Given the description of an element on the screen output the (x, y) to click on. 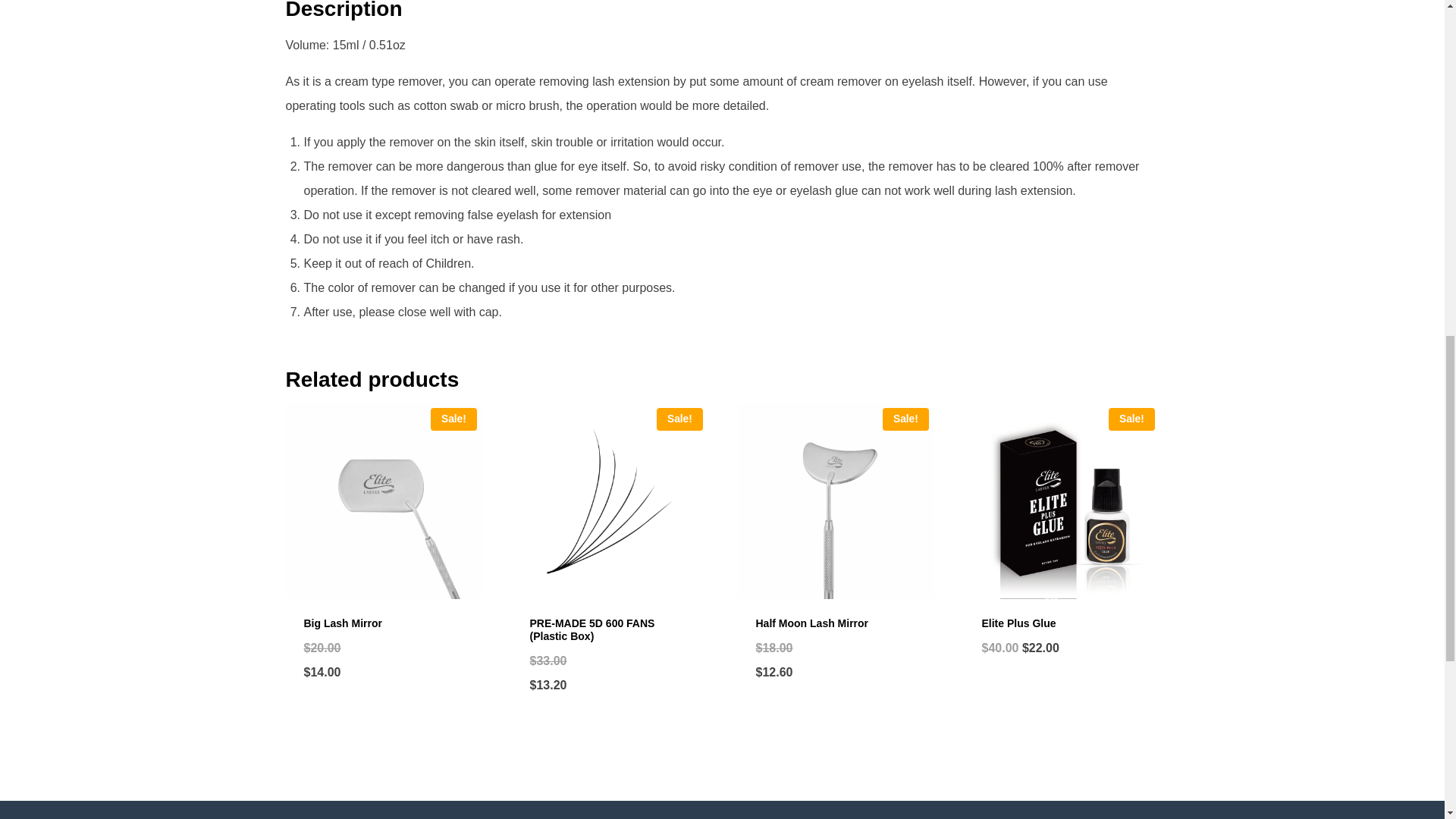
Sale! (834, 500)
Half Moon Lash Mirror (811, 623)
Sale! (1060, 500)
Elite Plus Glue (1018, 623)
Big Lash Mirror (341, 623)
Sale! (382, 500)
Sale! (608, 500)
